Given the description of an element on the screen output the (x, y) to click on. 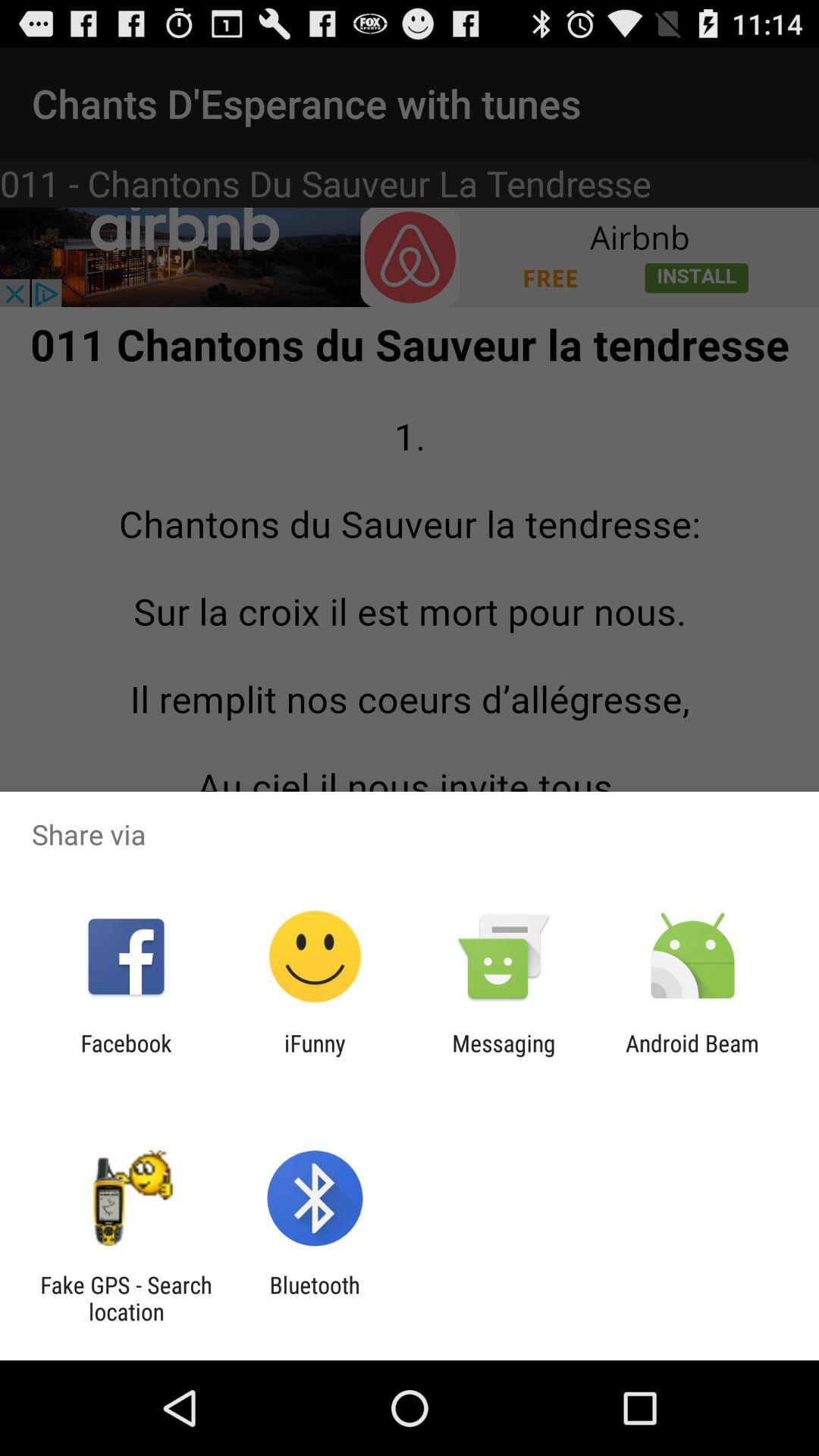
press ifunny item (314, 1056)
